Given the description of an element on the screen output the (x, y) to click on. 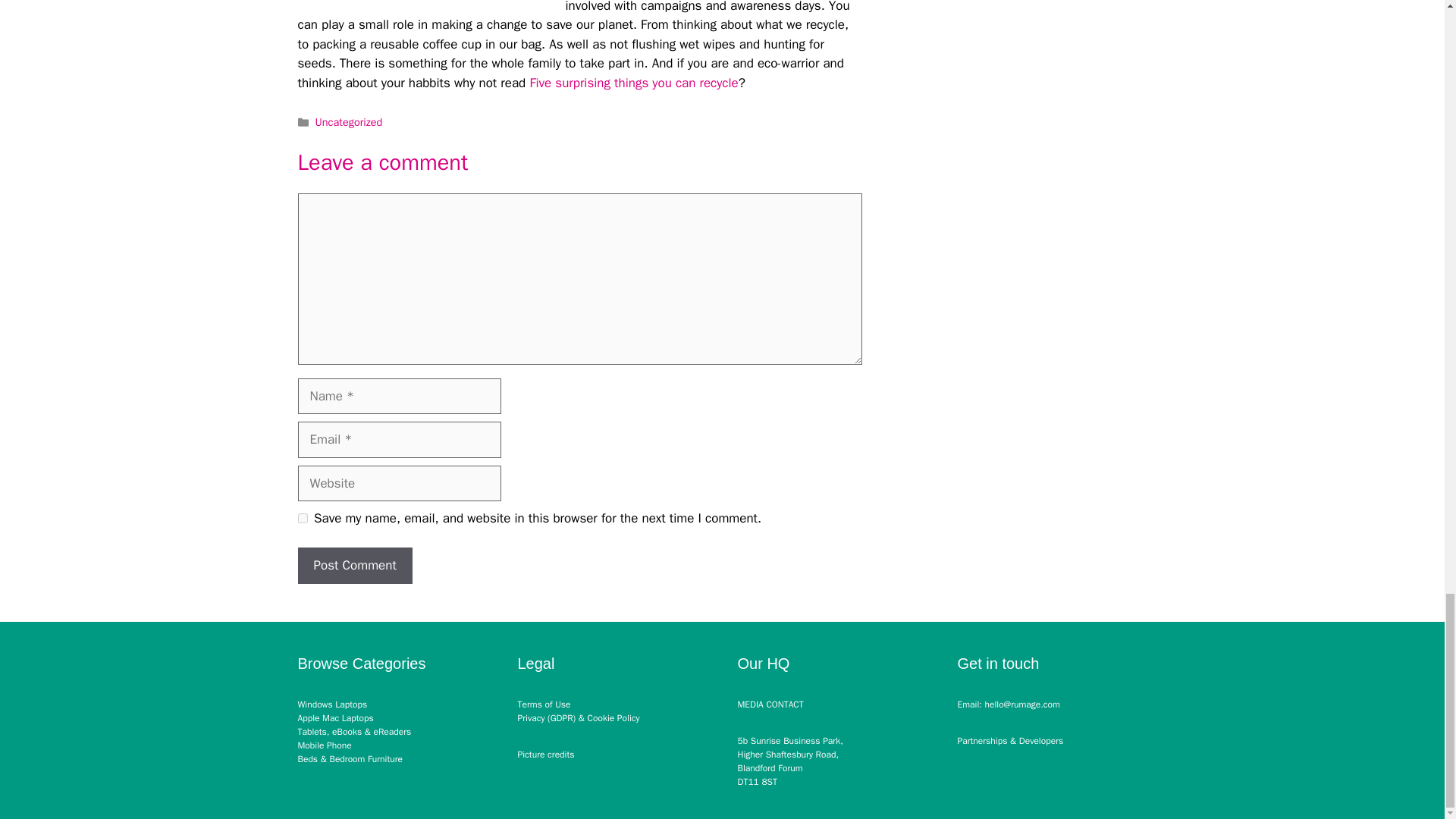
Mobile Phone (323, 745)
Windows Laptops (331, 704)
Post Comment (354, 565)
yes (302, 518)
Apple Mac Laptops (334, 717)
Uncategorized (348, 121)
Post Comment (354, 565)
Terms of Use (543, 704)
Five surprising things you can recycle (633, 82)
